Given the description of an element on the screen output the (x, y) to click on. 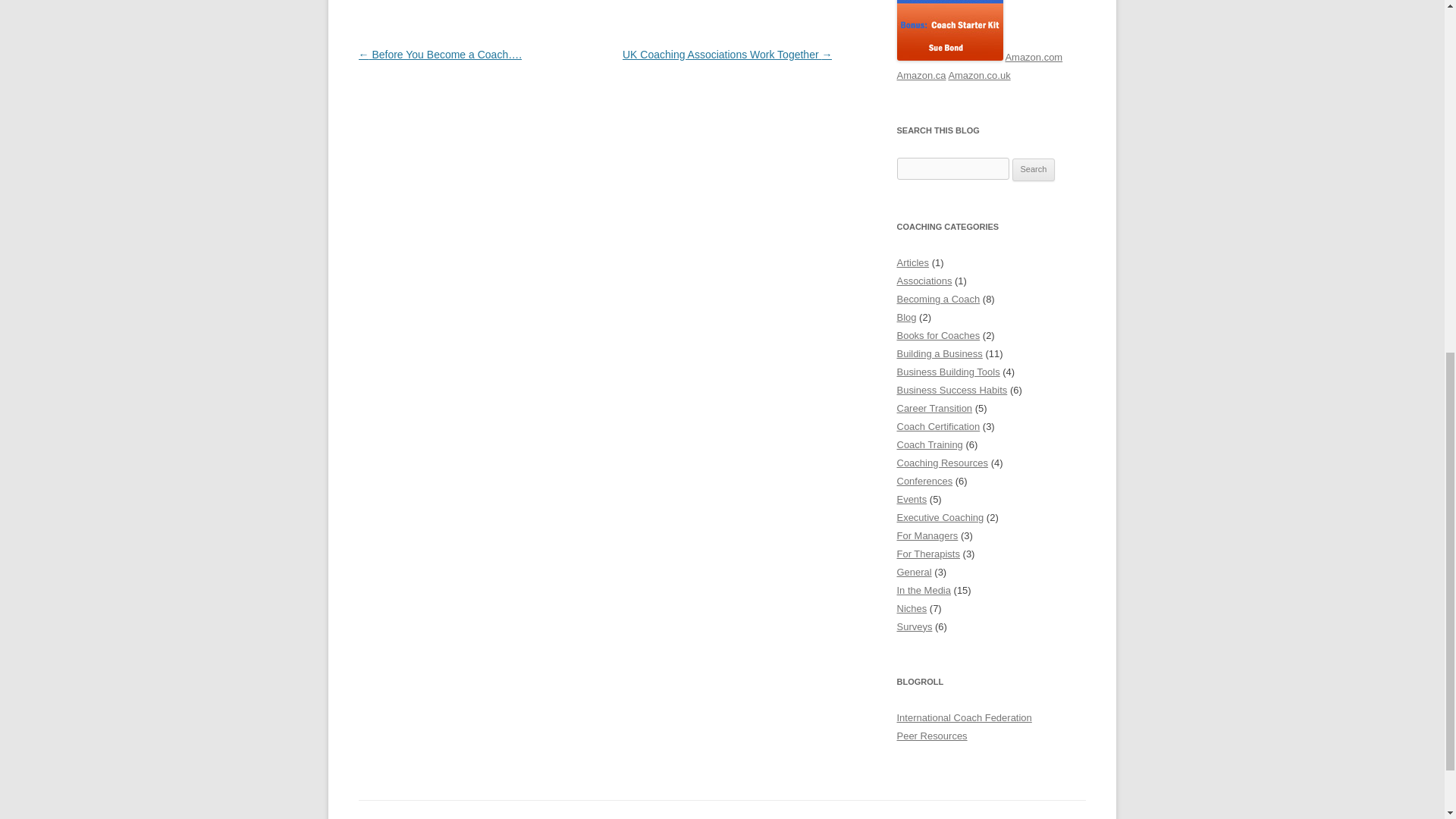
Coach Certification (937, 426)
Coaching Resources (942, 462)
Amazon.ca (920, 75)
Associations (924, 280)
Search (1033, 169)
Business Success Habits (951, 389)
Building a Business (938, 353)
For Managers (927, 535)
Amazon.com (1033, 57)
Niches (911, 608)
Coach Training (929, 444)
For Therapists (927, 553)
Books for Coaches (937, 335)
Conferences (924, 480)
General (913, 572)
